Given the description of an element on the screen output the (x, y) to click on. 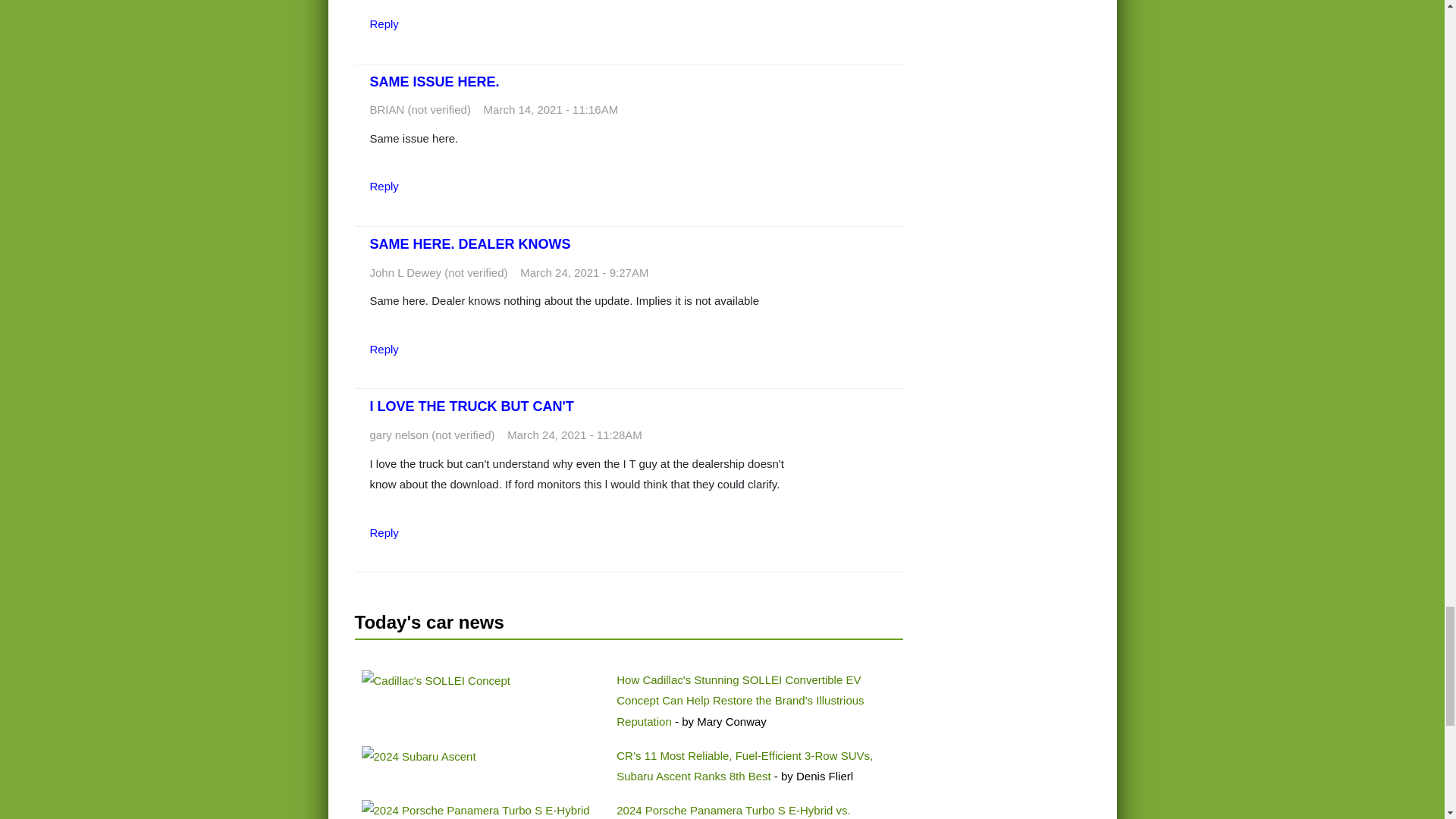
2024 Subaru Ascent on the dealer's lot (418, 756)
Cadillac Photo (435, 680)
